Given the description of an element on the screen output the (x, y) to click on. 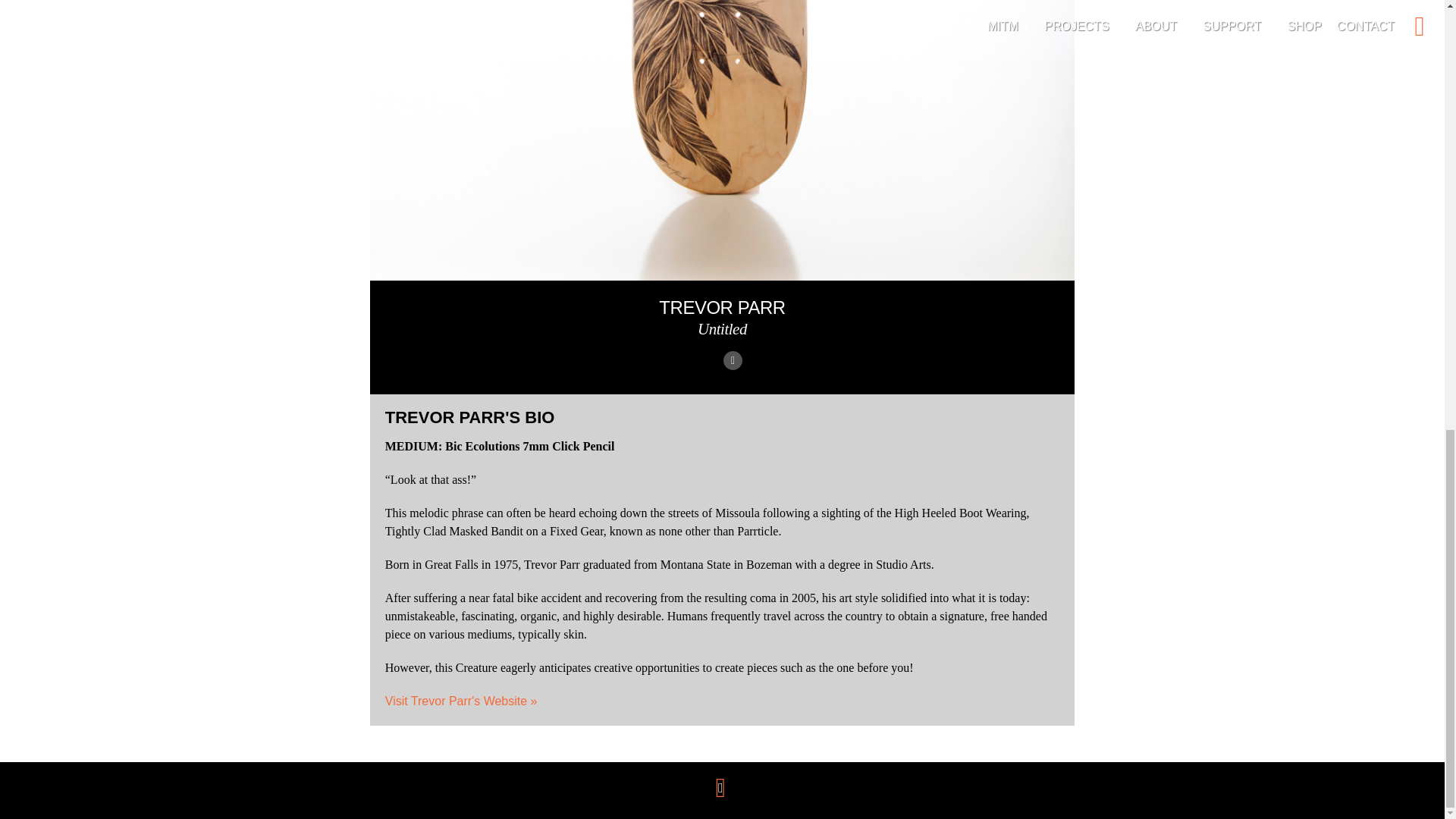
Toggle social (719, 787)
